Given the description of an element on the screen output the (x, y) to click on. 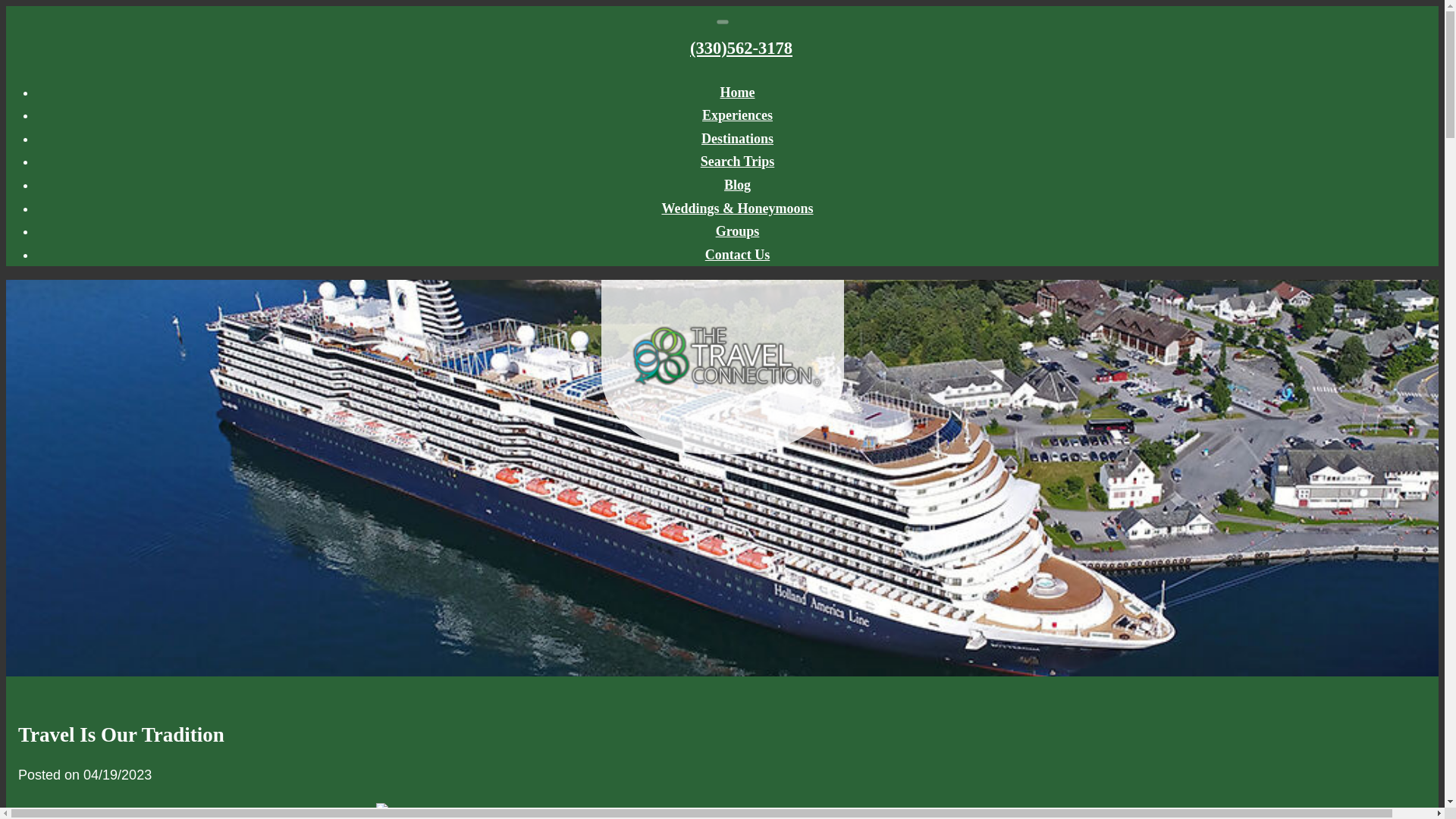
Search Trips (737, 161)
Home (737, 92)
Experiences (737, 115)
Contact Us (737, 254)
Destinations (737, 138)
Toggle navigation (722, 21)
Groups (738, 231)
